Given the description of an element on the screen output the (x, y) to click on. 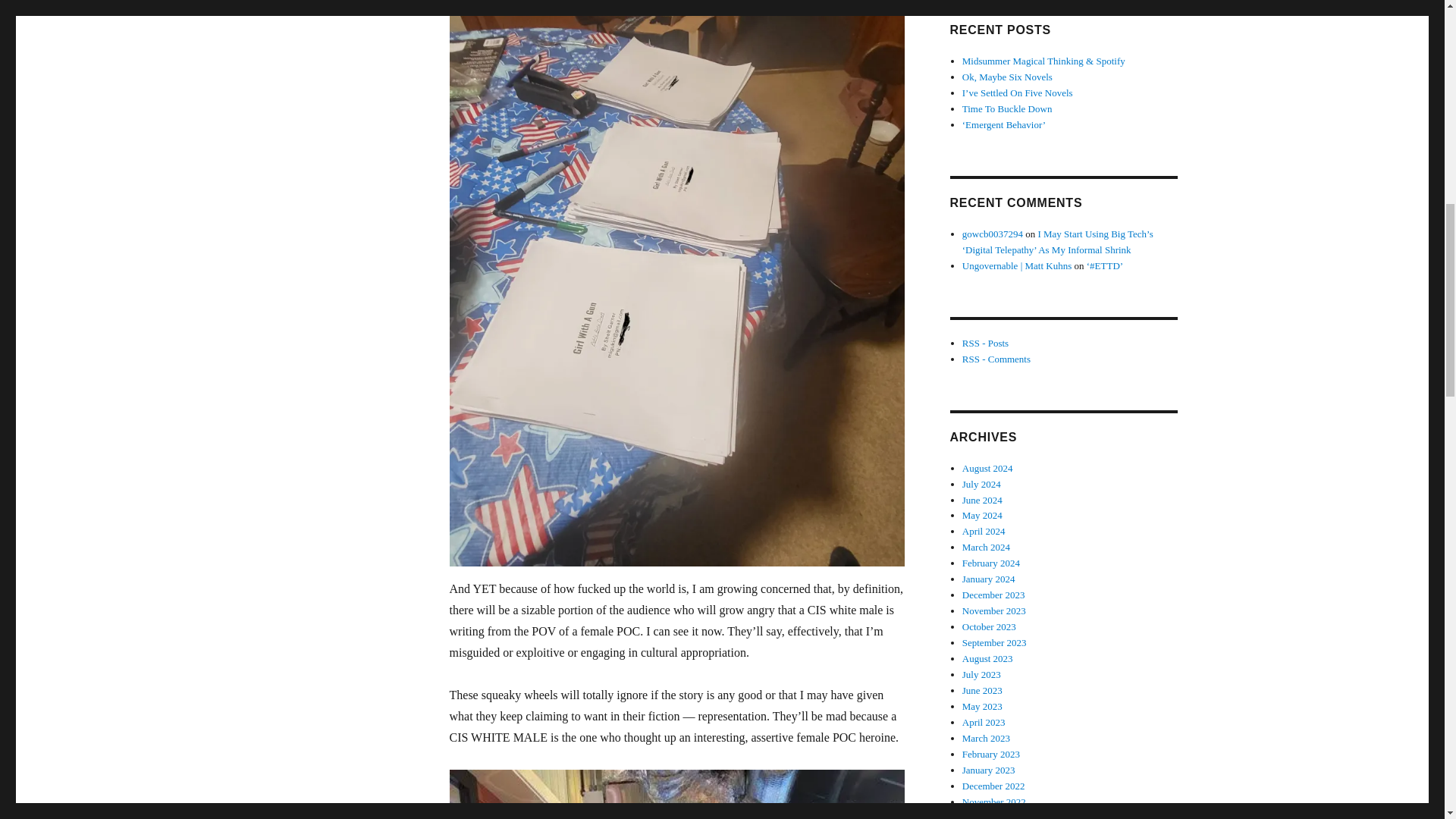
gowcb0037294 (992, 233)
Subscribe to posts (985, 342)
RSS - Posts (985, 342)
Ok, Maybe Six Novels (1007, 76)
Subscribe to comments (996, 358)
Time To Buckle Down (1007, 108)
RSS - Comments (996, 358)
